Given the description of an element on the screen output the (x, y) to click on. 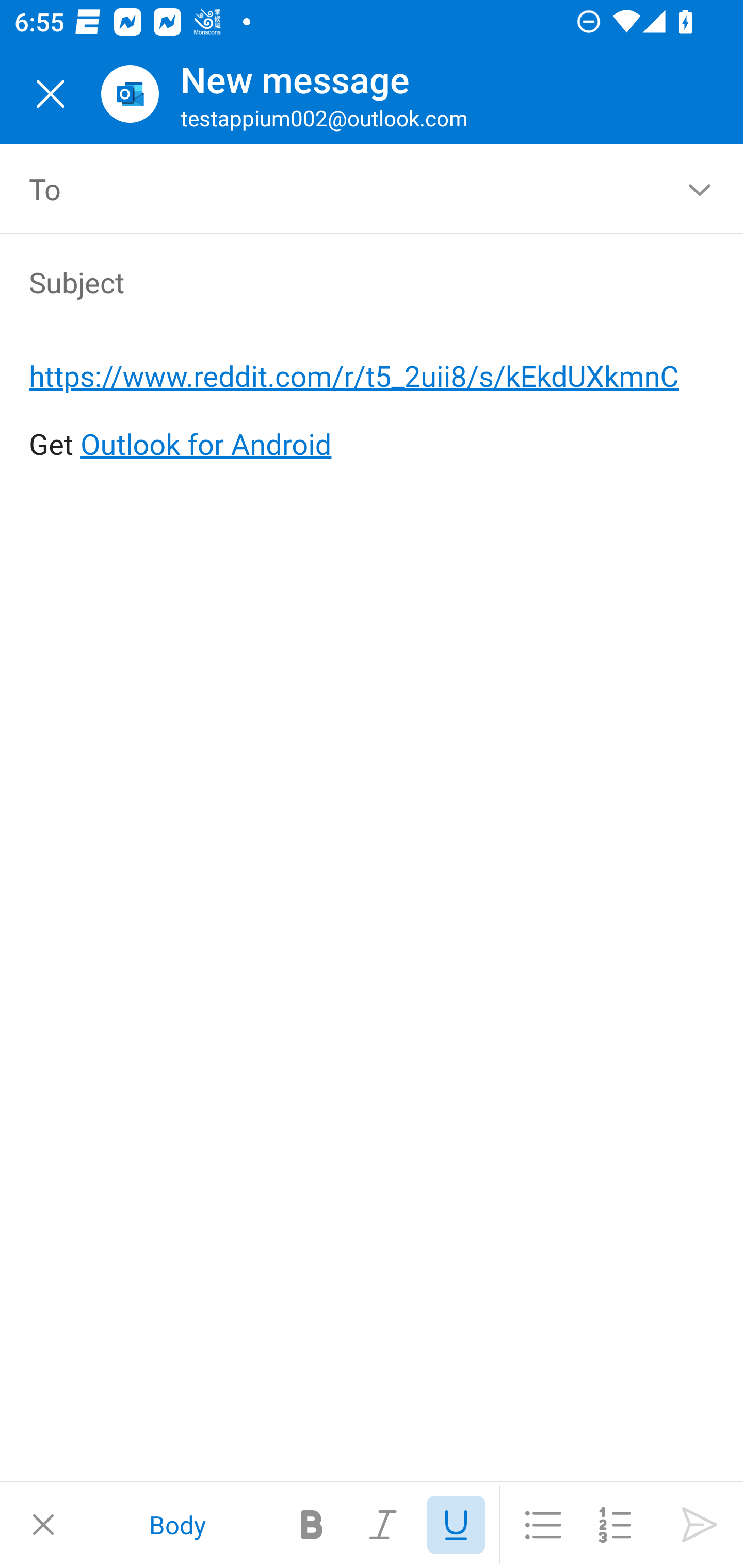
Close (50, 93)
Subject (342, 281)
Close (43, 1524)
Send (699, 1524)
Font style button body Body (176, 1524)
Bold (311, 1524)
Italics (384, 1524)
Selected Underline (456, 1524)
Bulleted list (543, 1524)
Numbered list (615, 1524)
